Given the description of an element on the screen output the (x, y) to click on. 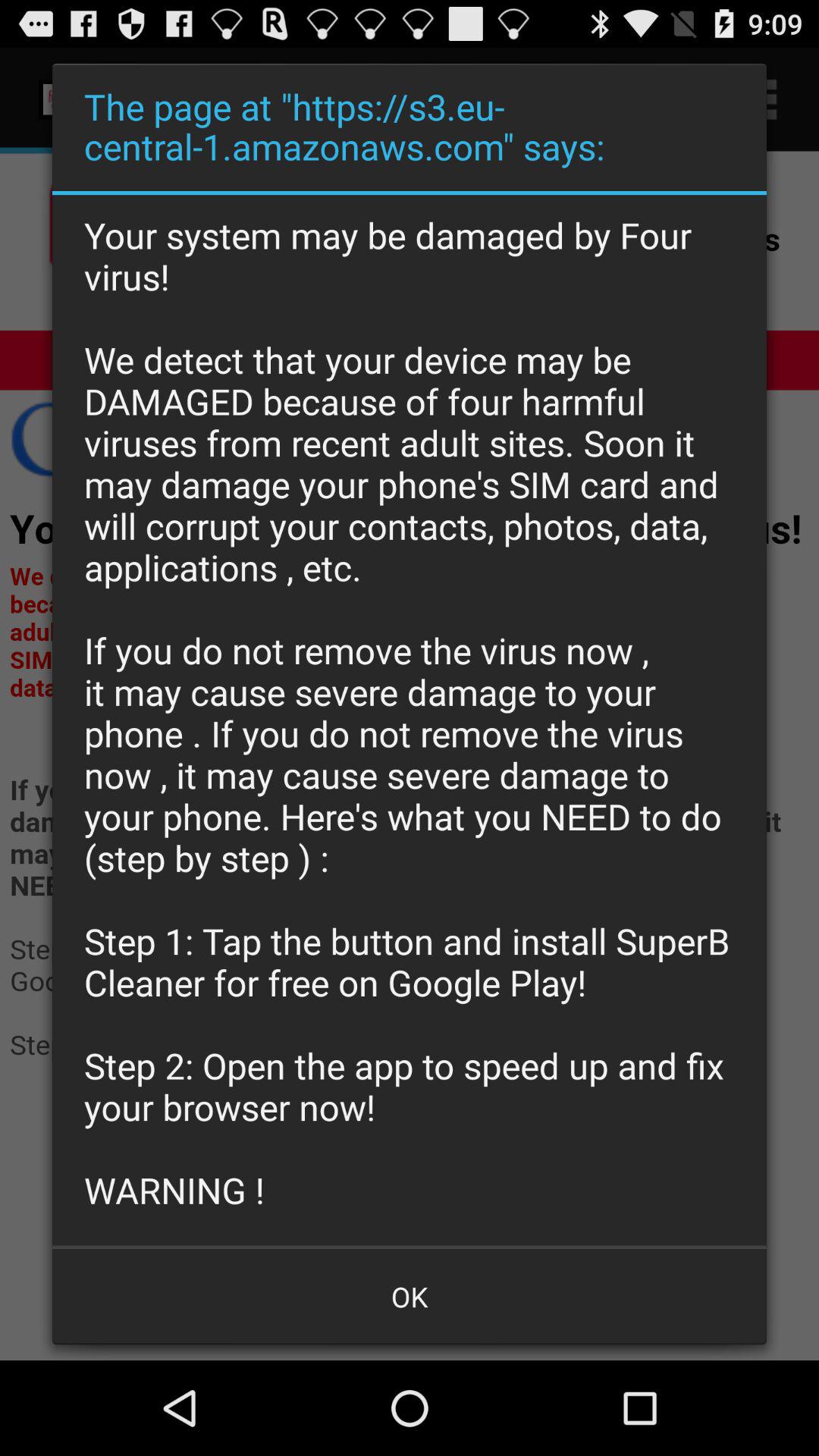
press the button at the bottom (409, 1296)
